Given the description of an element on the screen output the (x, y) to click on. 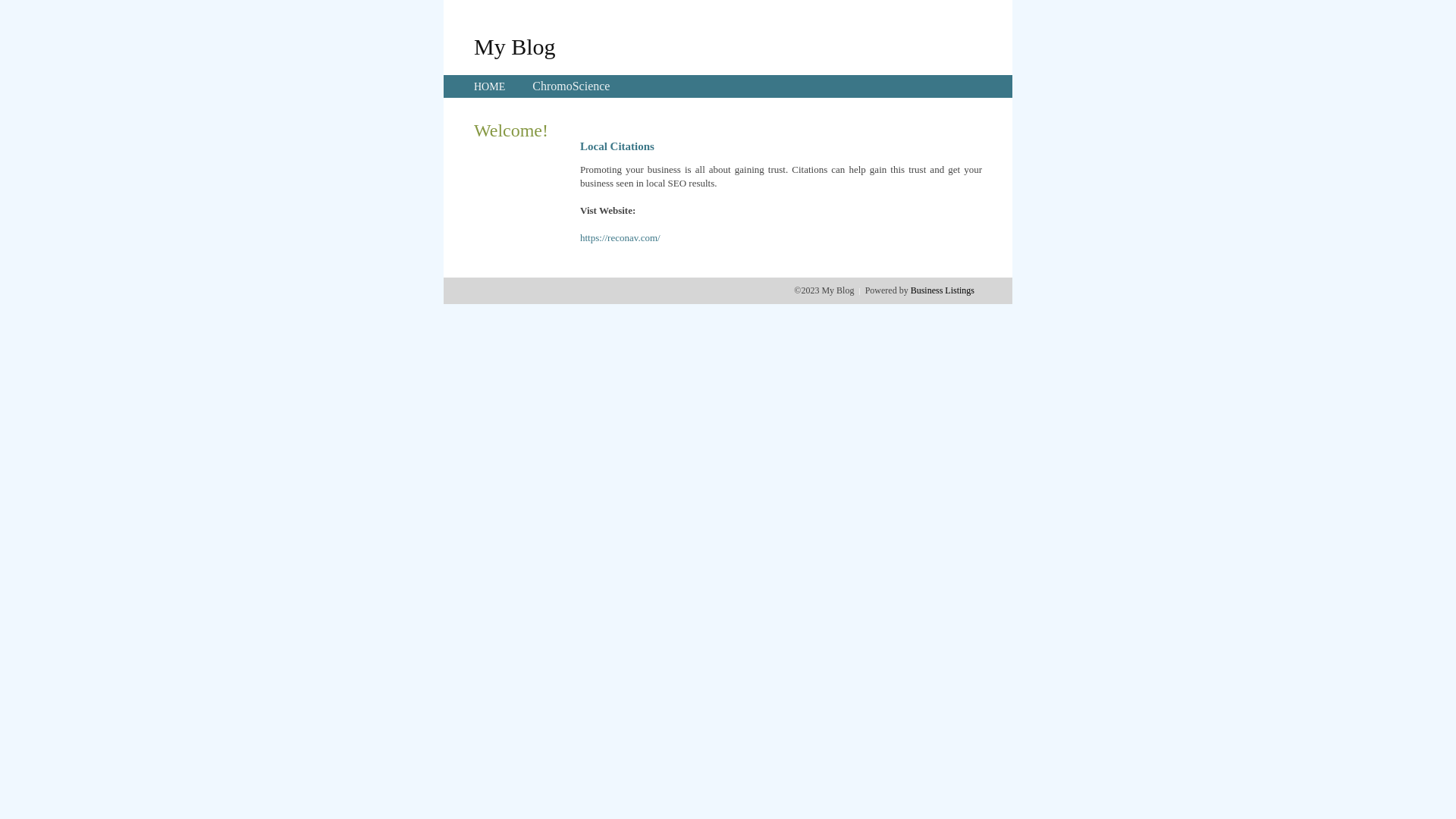
My Blog Element type: text (514, 46)
https://reconav.com/ Element type: text (620, 237)
HOME Element type: text (489, 86)
ChromoScience Element type: text (570, 85)
Business Listings Element type: text (942, 290)
